Given the description of an element on the screen output the (x, y) to click on. 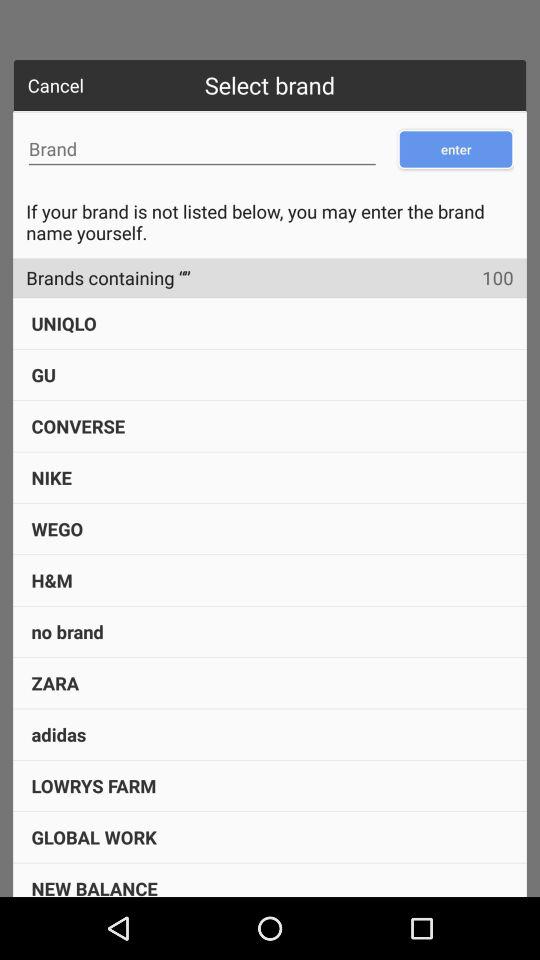
jump to zara item (55, 682)
